Given the description of an element on the screen output the (x, y) to click on. 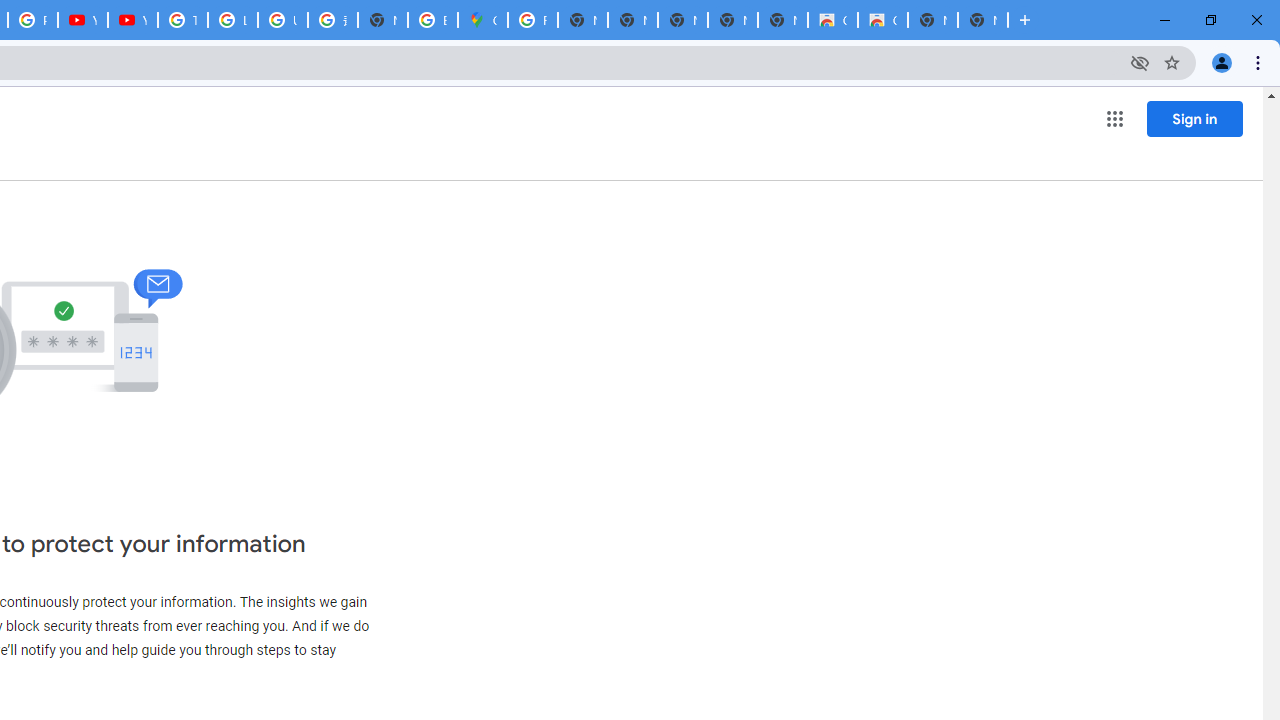
YouTube (82, 20)
Classic Blue - Chrome Web Store (832, 20)
YouTube (132, 20)
New Tab (383, 20)
New Tab (982, 20)
